Given the description of an element on the screen output the (x, y) to click on. 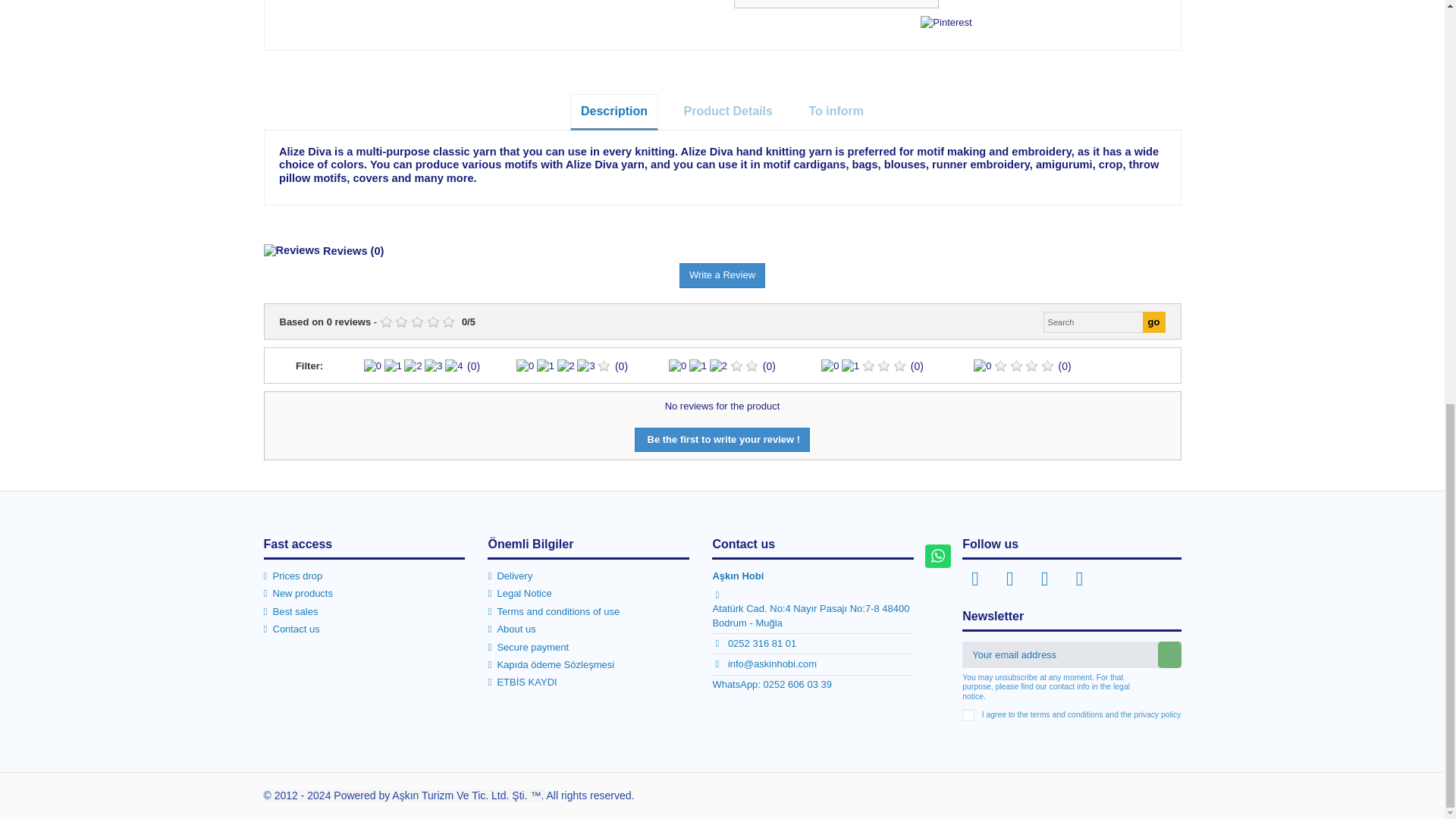
Our special products (293, 576)
Search (1092, 322)
Our best sales (290, 612)
Use our form to contact us (291, 629)
go (1154, 322)
Our new products (298, 593)
